Given the description of an element on the screen output the (x, y) to click on. 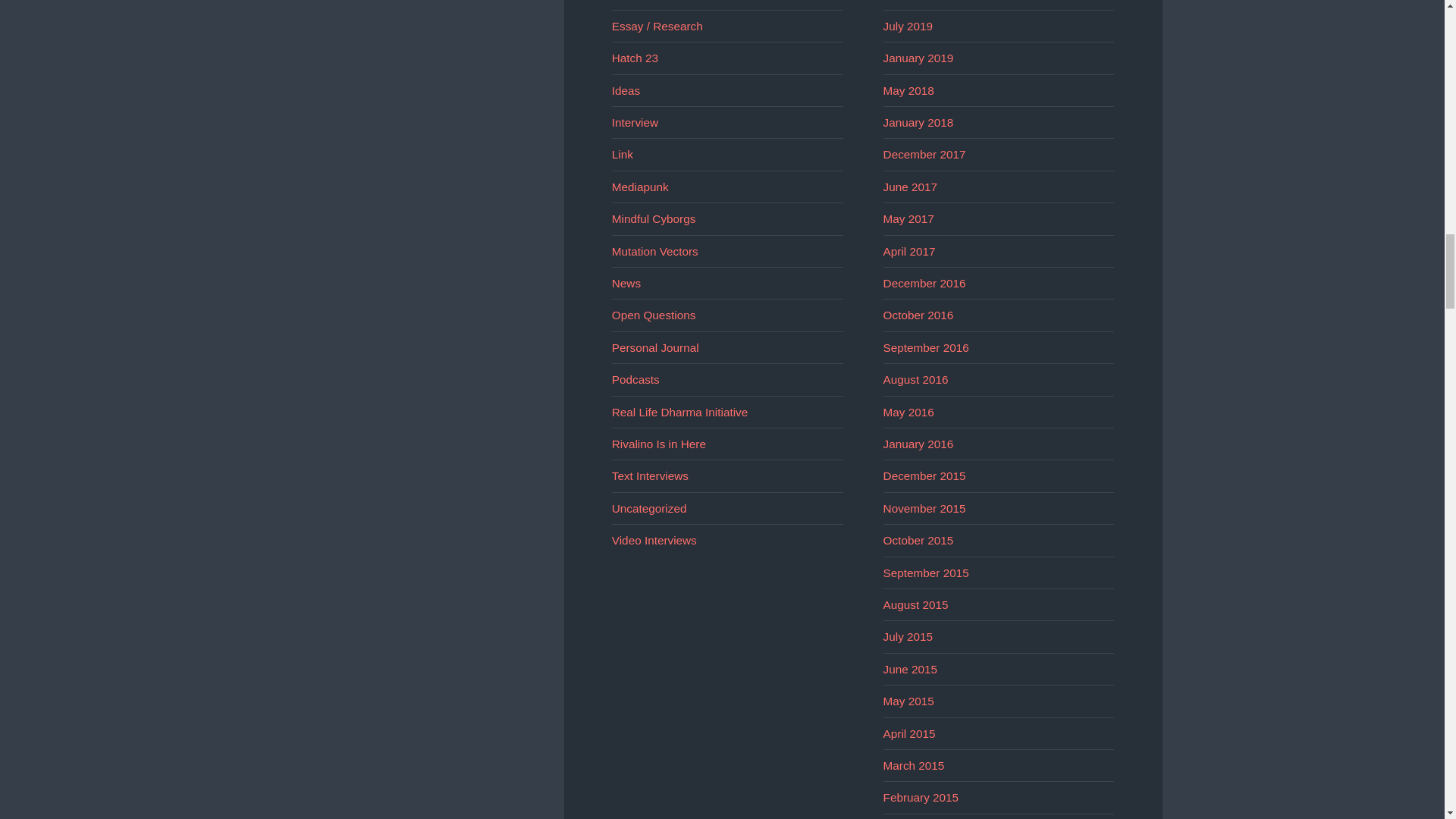
Mindful Cyborgs (653, 218)
Ideas (625, 89)
Link (622, 154)
Open Questions (653, 314)
Personal Journal (654, 347)
News (625, 282)
Mediapunk (639, 186)
Interview (634, 122)
Hatch 23 (634, 57)
Mutation Vectors (654, 250)
